Given the description of an element on the screen output the (x, y) to click on. 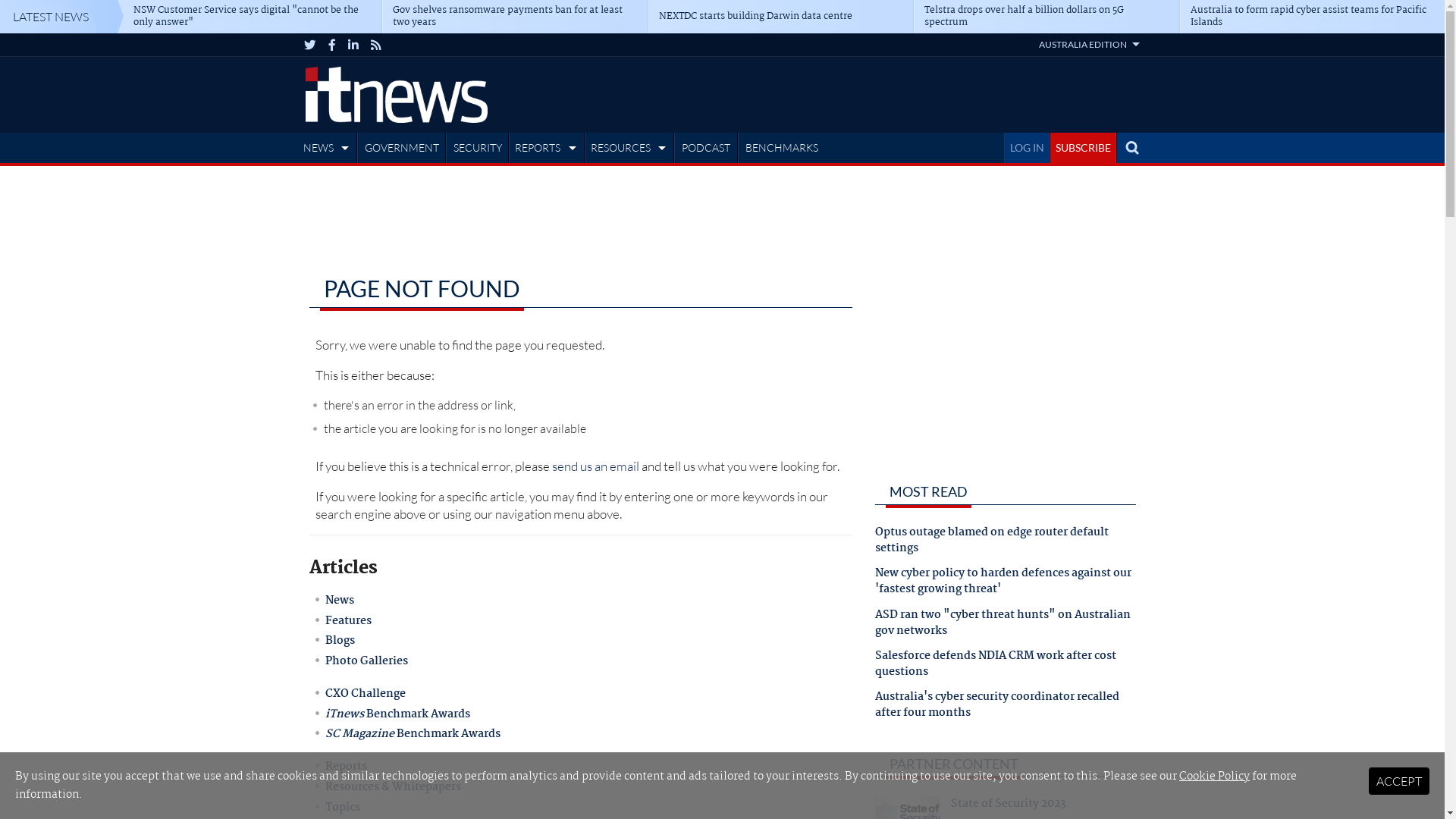
NEWS Element type: text (327, 147)
Photo Galleries Element type: text (366, 661)
Telstra drops over half a billion dollars on 5G spectrum Element type: text (1045, 16)
NEXTDC starts building Darwin data centre Element type: text (780, 16)
Cookie Policy Element type: text (1214, 776)
LOG IN Element type: text (1026, 147)
Topics Element type: text (342, 807)
GOVERNMENT Element type: text (401, 147)
SC Magazine Benchmark Awards Element type: text (412, 733)
SECURITY Element type: text (477, 147)
Salesforce defends NDIA CRM work after cost questions Element type: text (1005, 668)
RESOURCES Element type: text (630, 147)
Features Element type: text (348, 620)
News Element type: text (339, 600)
  Element type: text (1131, 147)
Optus outage blamed on edge router default settings Element type: text (1005, 544)
REPORTS Element type: text (547, 147)
PARTNER CONTENT Element type: text (953, 763)
CXO Challenge Element type: text (365, 693)
iTnews Benchmark Awards Element type: text (397, 714)
PODCAST Element type: text (705, 147)
BENCHMARKS Element type: text (781, 147)
send us an email Element type: text (595, 465)
Gov shelves ransomware payments ban for at least two years Element type: text (513, 16)
SUBSCRIBE Element type: text (1082, 147)
ACCEPT Element type: text (1398, 780)
Resources & Whitepapers Element type: text (393, 787)
LATEST NEWS Element type: text (62, 16)
ASD ran two "cyber threat hunts" on Australian gov networks Element type: text (1005, 627)
Blogs Element type: text (339, 640)
Reports Element type: text (346, 766)
AUSTRALIA EDITION Element type: text (1088, 44)
